Given the description of an element on the screen output the (x, y) to click on. 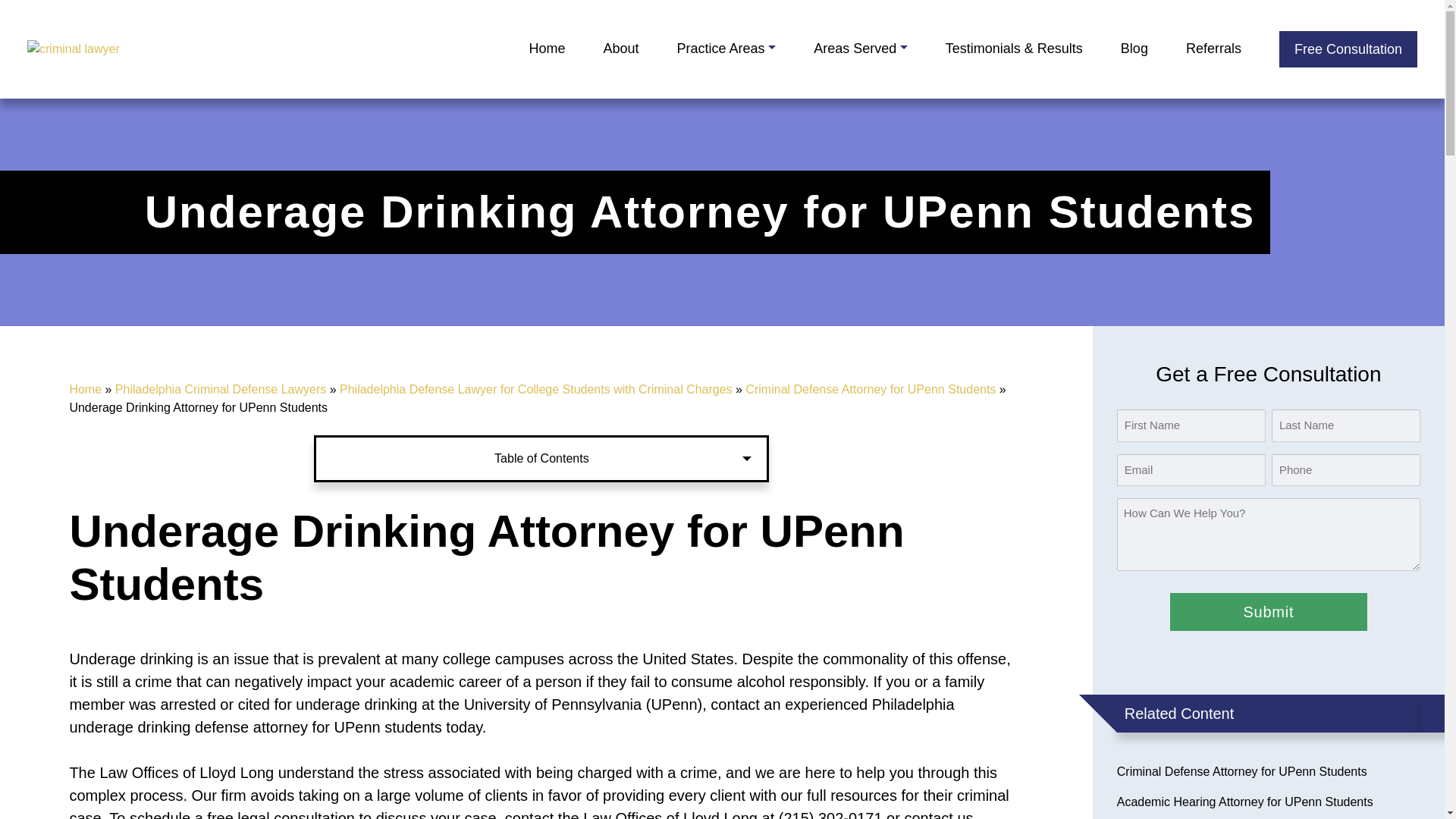
Home (546, 48)
Practice Areas (726, 48)
About (620, 48)
Submit (1268, 611)
